Given the description of an element on the screen output the (x, y) to click on. 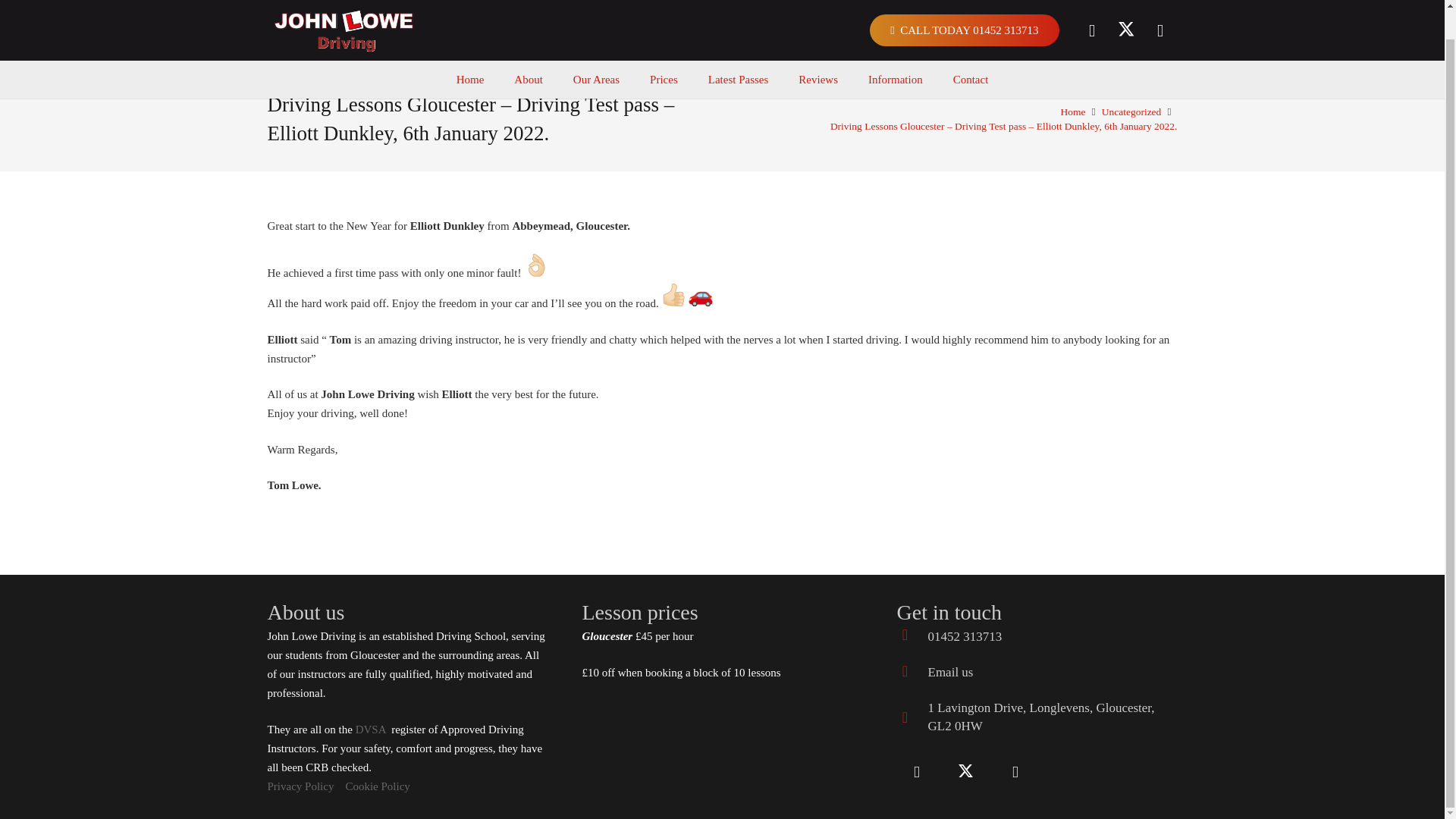
Twitter (966, 772)
Prices (663, 48)
useful links (370, 729)
Reviews (818, 48)
Cookie Policy (377, 786)
Facebook (1092, 8)
CALL TODAY 01452 313713 (963, 7)
Privacy Policy (299, 786)
Uncategorized (1131, 111)
Our Areas (595, 48)
Facebook (916, 772)
About (528, 48)
Google (1015, 772)
Home (1073, 111)
Email us (951, 672)
